Given the description of an element on the screen output the (x, y) to click on. 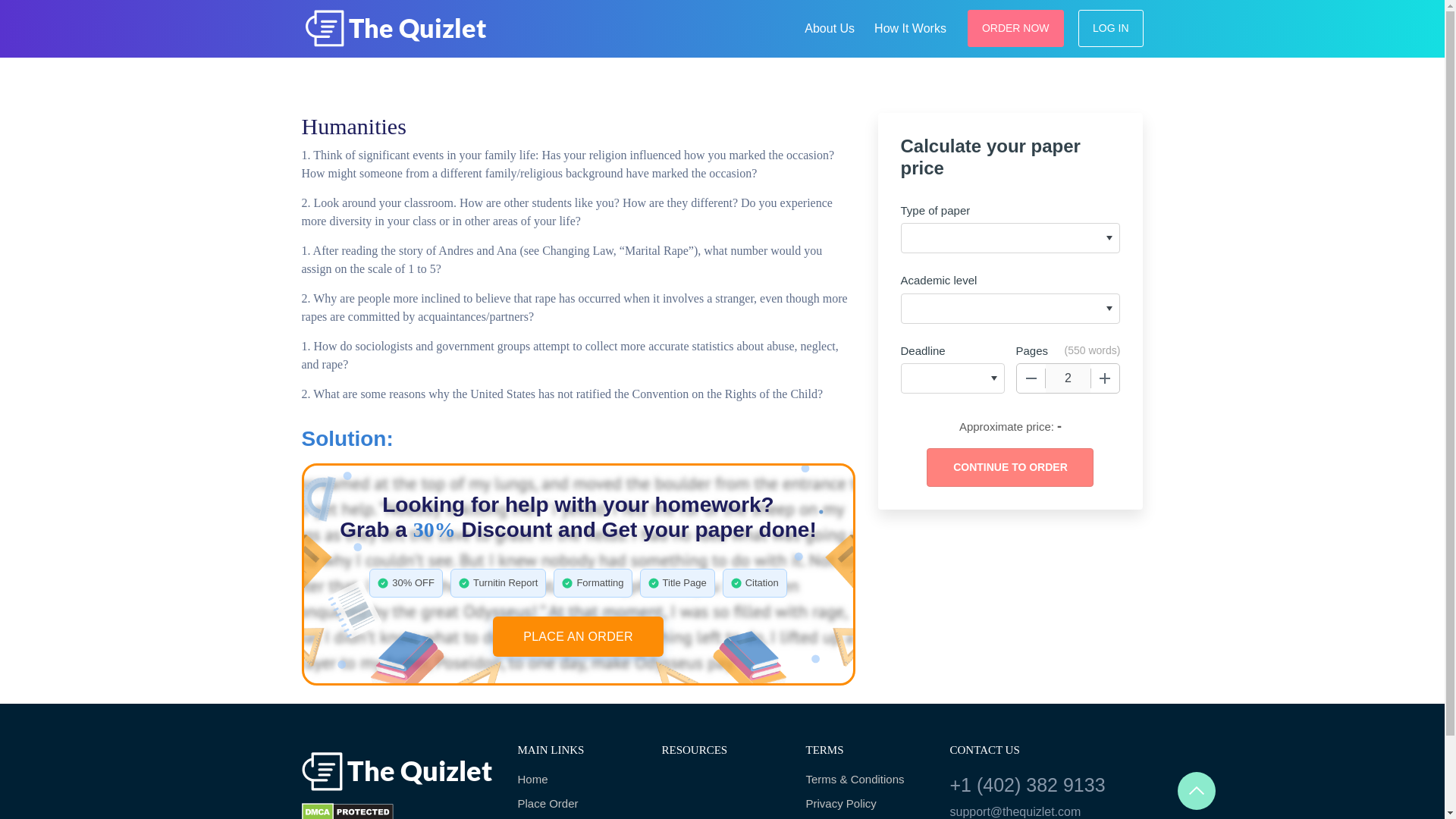
PLACE AN ORDER (578, 636)
About Us (828, 26)
Home (577, 779)
Home (577, 779)
2 (1067, 378)
Continue to order (1009, 466)
Continue to order (1009, 466)
ORDER NOW (1016, 27)
LOG IN (1110, 27)
Privacy Policy (865, 804)
